Given the description of an element on the screen output the (x, y) to click on. 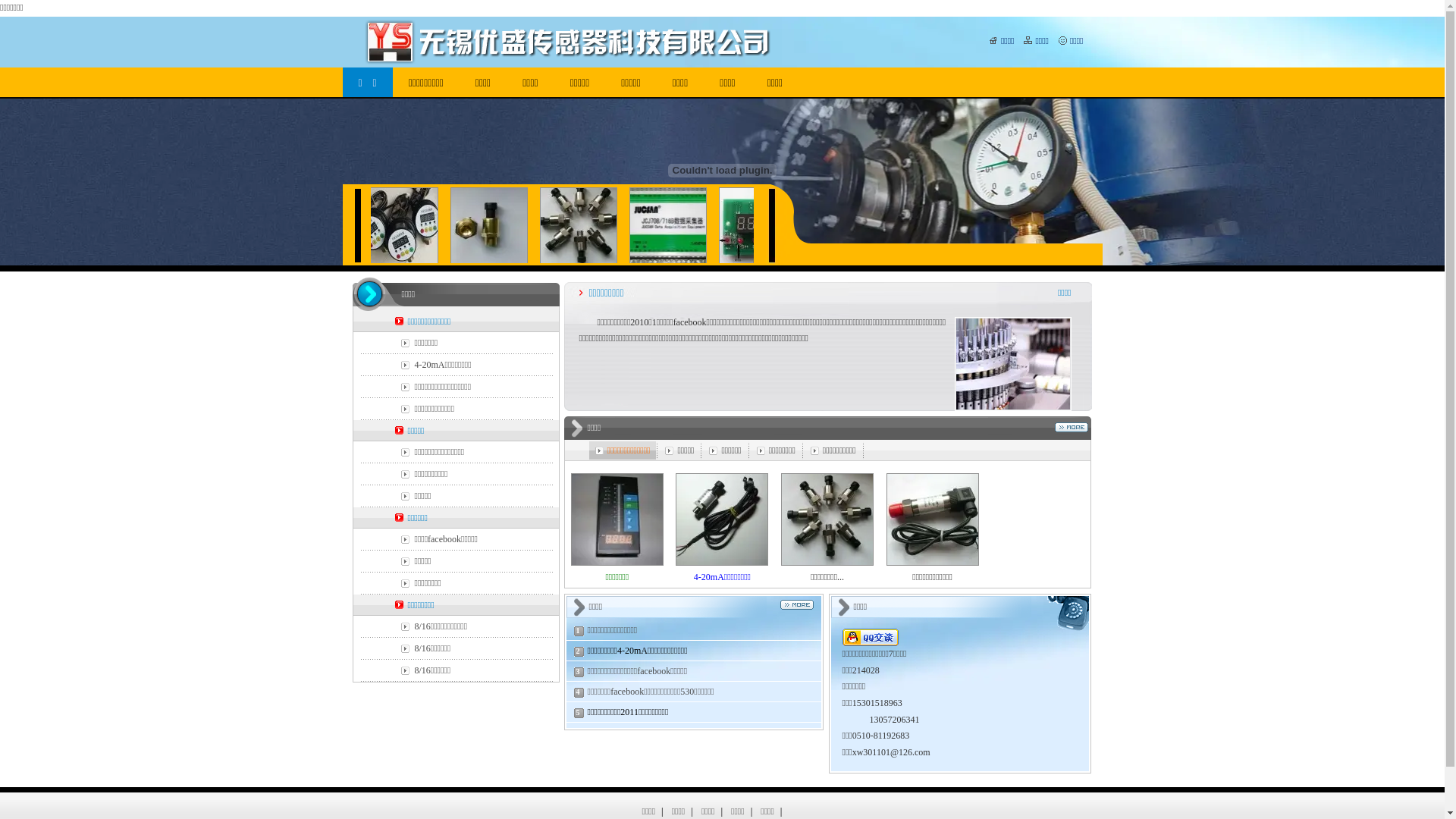
xw301101 Element type: text (871, 751)
